Given the description of an element on the screen output the (x, y) to click on. 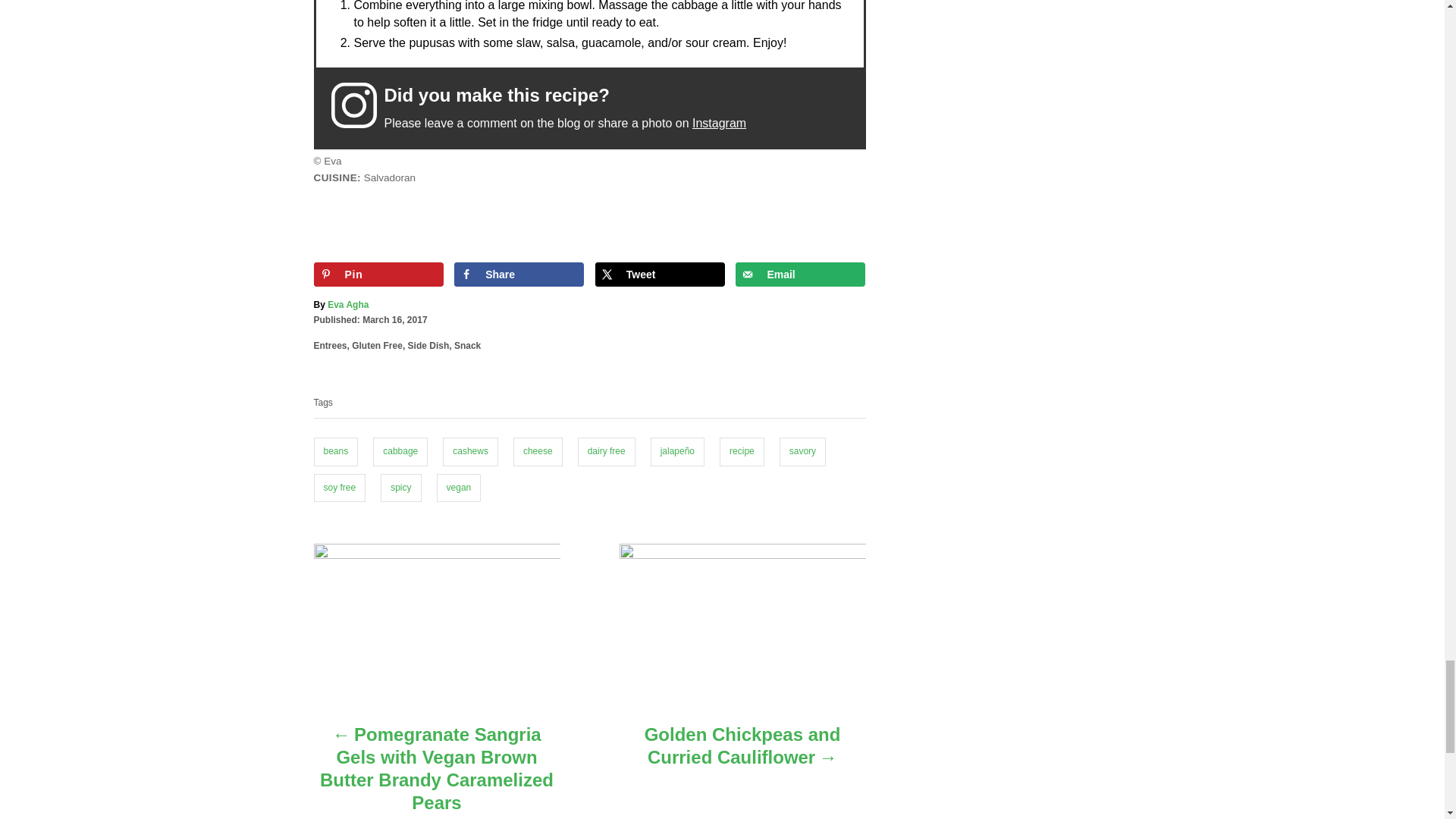
Share on X (660, 274)
Eva Agha (347, 304)
Pin (379, 274)
Share on Facebook (518, 274)
Email (799, 274)
Entrees (330, 345)
Share (518, 274)
Instagram (719, 123)
Gluten Free (377, 345)
Send over email (799, 274)
Save to Pinterest (379, 274)
Tweet (660, 274)
